Given the description of an element on the screen output the (x, y) to click on. 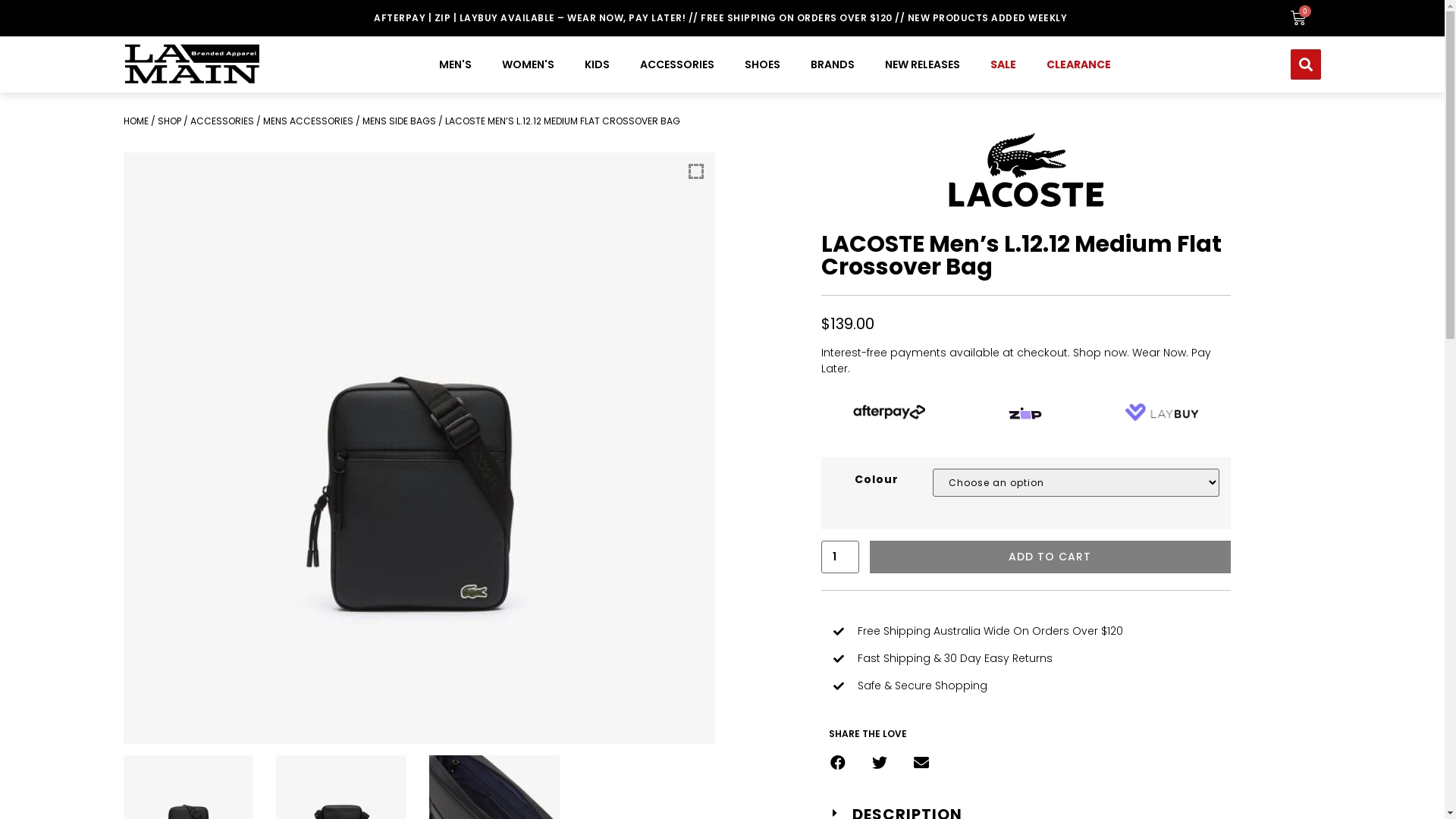
MENS ACCESSORIES Element type: text (307, 120)
0 Element type: text (1298, 17)
WOMEN'S Element type: text (527, 64)
ACCESSORIES Element type: text (221, 120)
KIDS Element type: text (597, 64)
LACOSTE Men's Lacoste Slim Fit Contrast Cotton Polo Shirt Element type: text (405, 722)
BRANDS Element type: text (832, 64)
MEN'S Element type: text (455, 64)
SHOP Element type: text (169, 120)
ACCESSORIES Element type: text (676, 64)
MENS SIDE BAGS Element type: text (399, 120)
ADD TO CART Element type: text (1049, 556)
CLEARANCE Element type: text (1078, 64)
SALE Element type: text (1002, 64)
NEW RELEASES Element type: text (922, 64)
HOME Element type: text (134, 120)
SHOES Element type: text (762, 64)
